Given the description of an element on the screen output the (x, y) to click on. 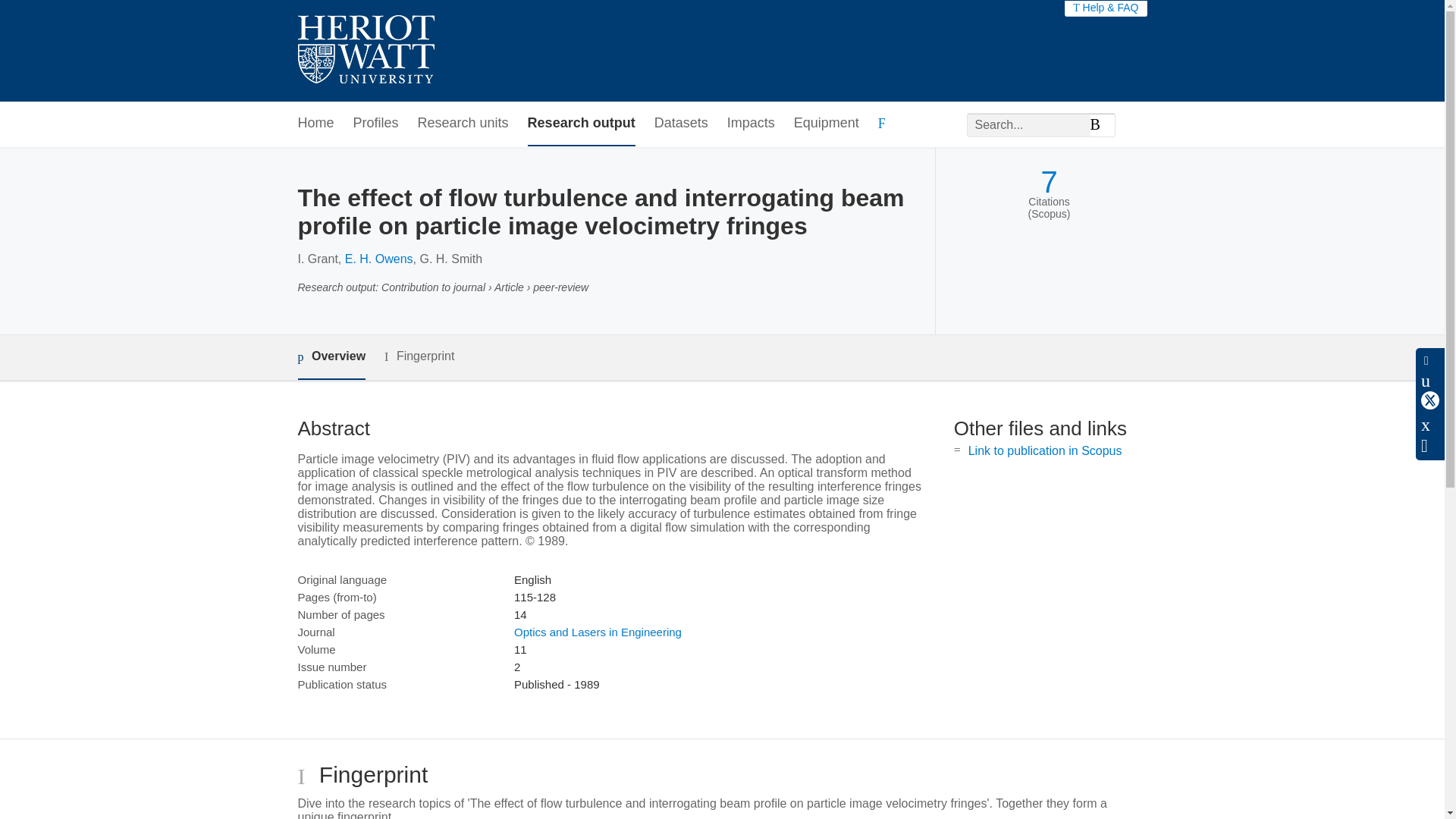
Link to publication in Scopus (1045, 450)
E. H. Owens (379, 258)
Equipment (826, 123)
Overview (331, 357)
Datasets (680, 123)
Profiles (375, 123)
Fingerprint (419, 356)
Optics and Lasers in Engineering (597, 631)
Heriot-Watt Research Portal Home (365, 50)
